Given the description of an element on the screen output the (x, y) to click on. 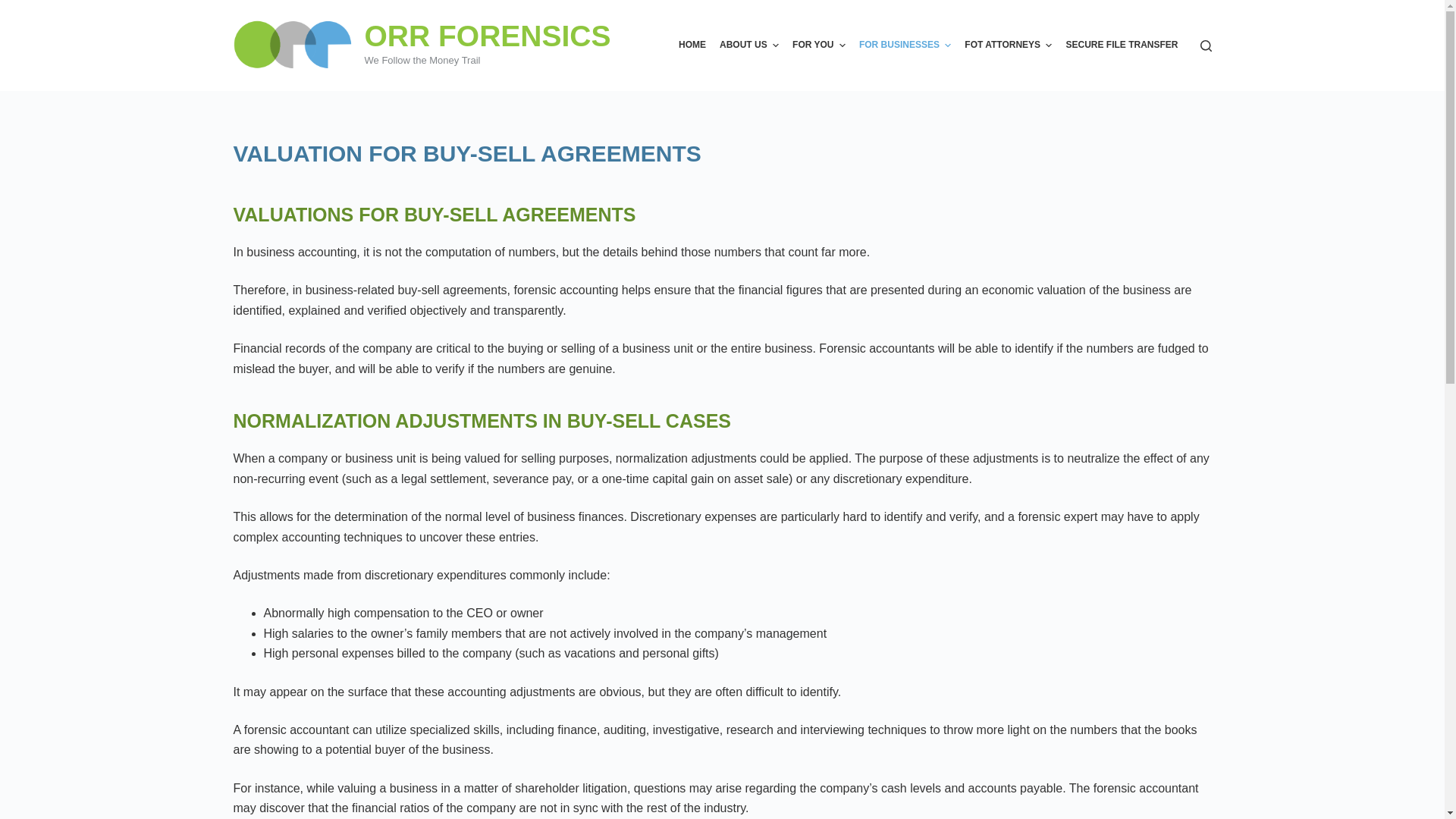
ORR FORENSICS (487, 35)
Valuation for Buy-Sell Agreements (721, 153)
Skip to content (15, 7)
